Given the description of an element on the screen output the (x, y) to click on. 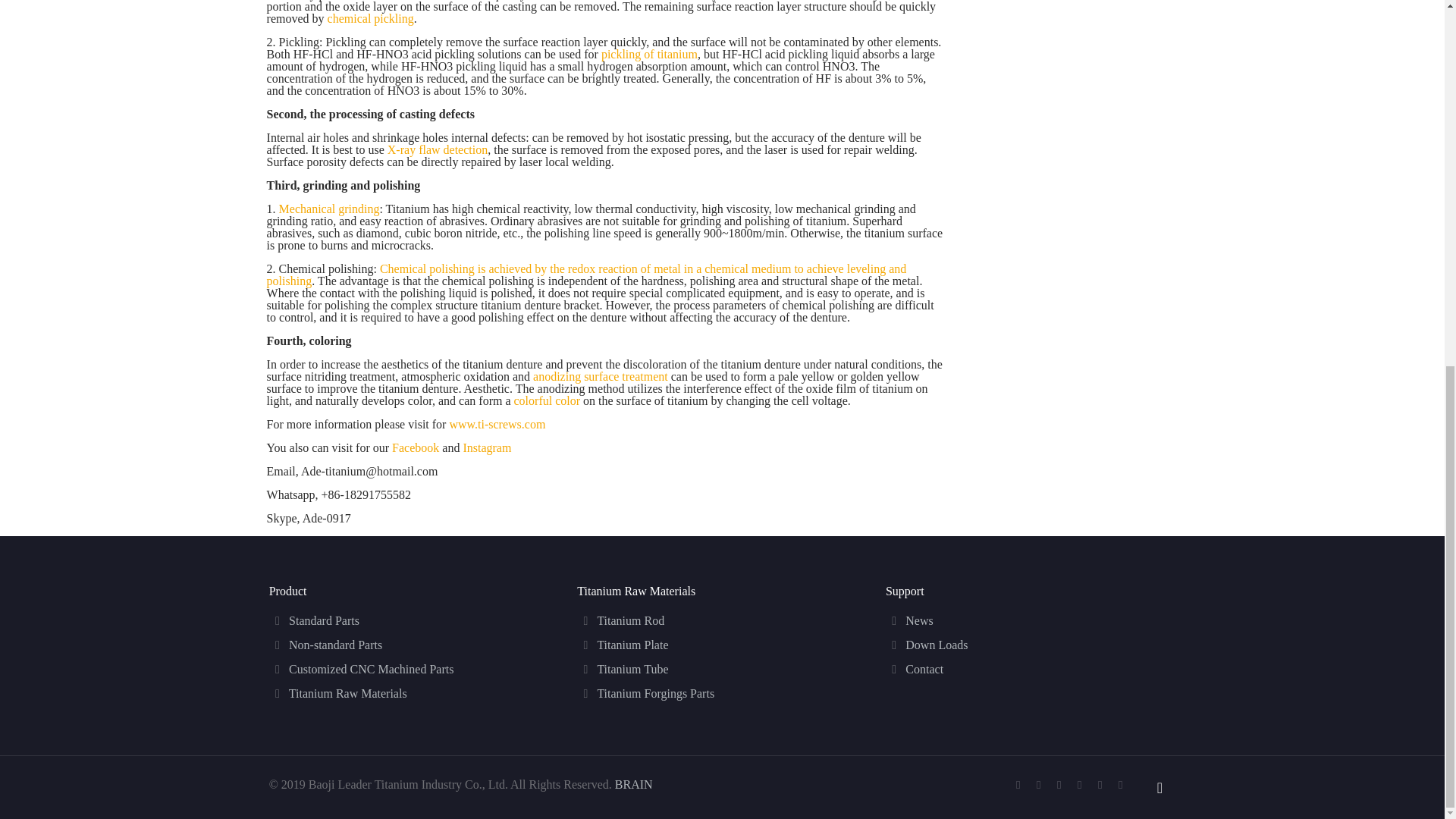
Facebook (415, 447)
LinkedIn (1079, 784)
www.ti-screws.com (496, 423)
Pinterest (1100, 784)
Mechanical grinding (329, 208)
Twitter (1059, 784)
X-ray flaw detection (437, 149)
Instagram (1120, 784)
chemical pickling (370, 18)
pickling of titanium (649, 53)
